Given the description of an element on the screen output the (x, y) to click on. 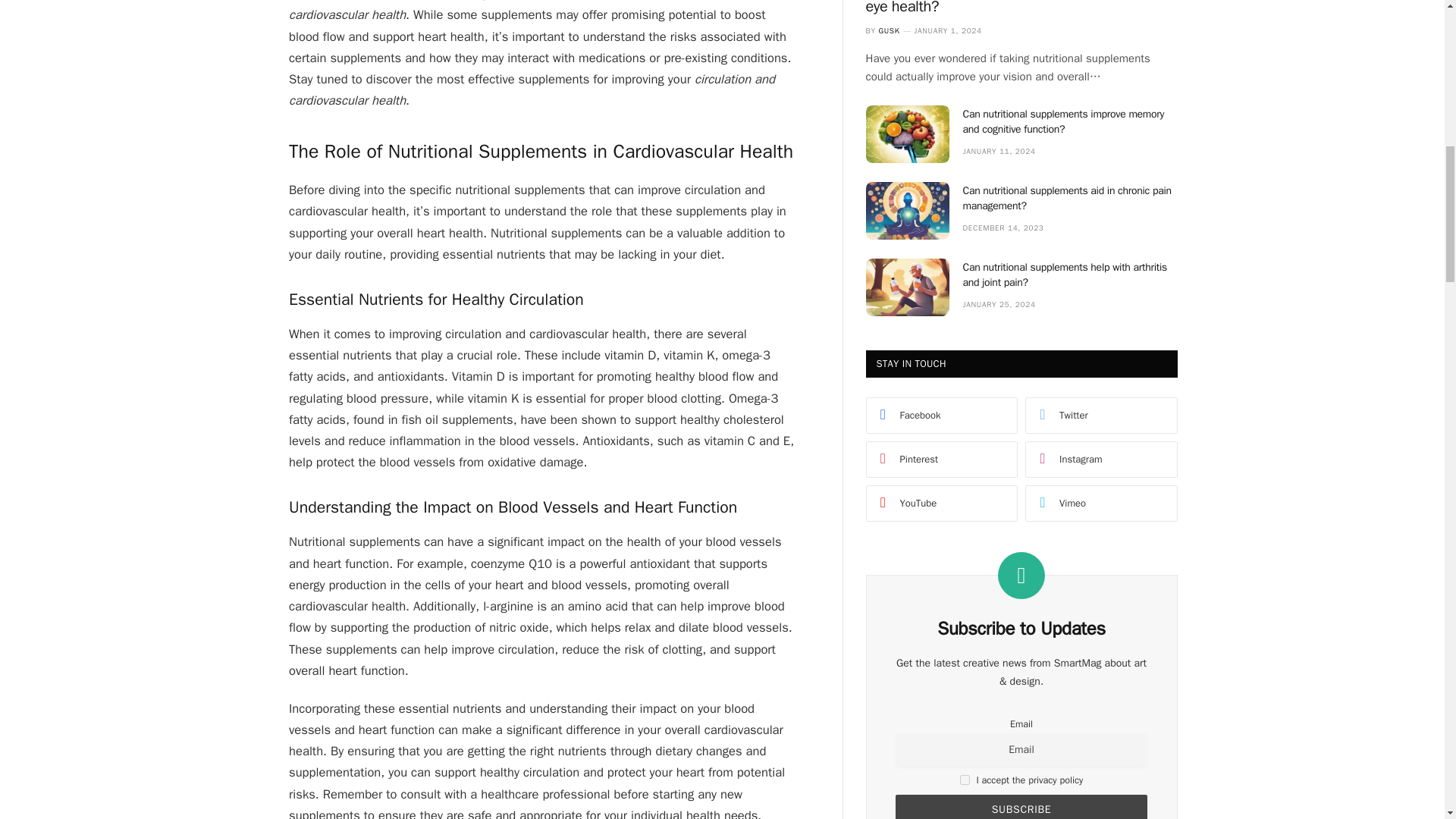
Subscribe (1021, 806)
on (964, 779)
